Given the description of an element on the screen output the (x, y) to click on. 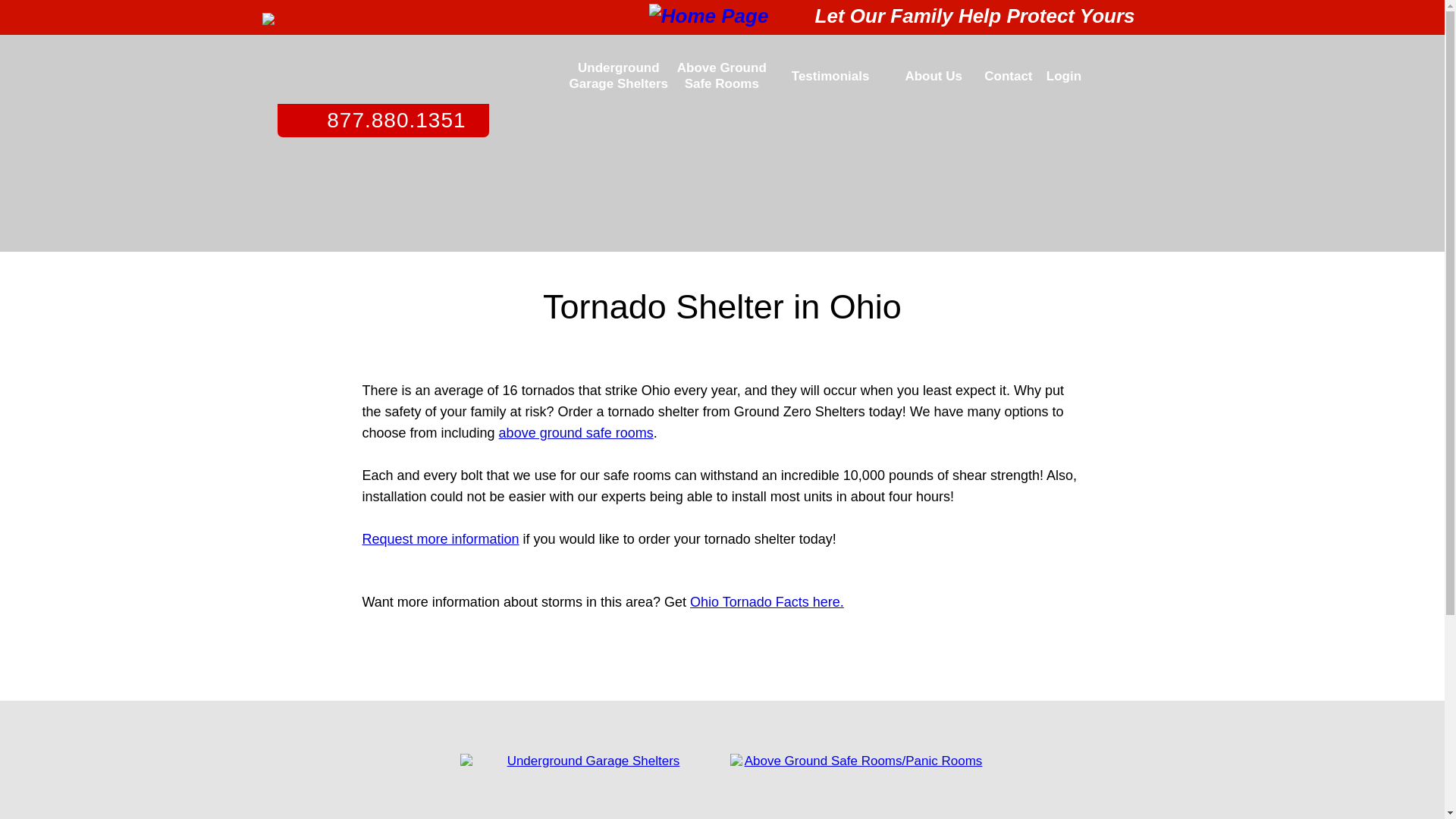
Testimonials (830, 75)
REQUEST MORE INFORMATION (830, 656)
Above Ground Safe Rooms (721, 75)
Underground Garage Shelters (587, 786)
Ohio Tornado Facts (749, 601)
above ground safe rooms (576, 432)
ORDER YOUR SHELTER TODAY (612, 656)
Request more information (440, 539)
Underground Garage Shelters (618, 75)
About Us (933, 75)
